Given the description of an element on the screen output the (x, y) to click on. 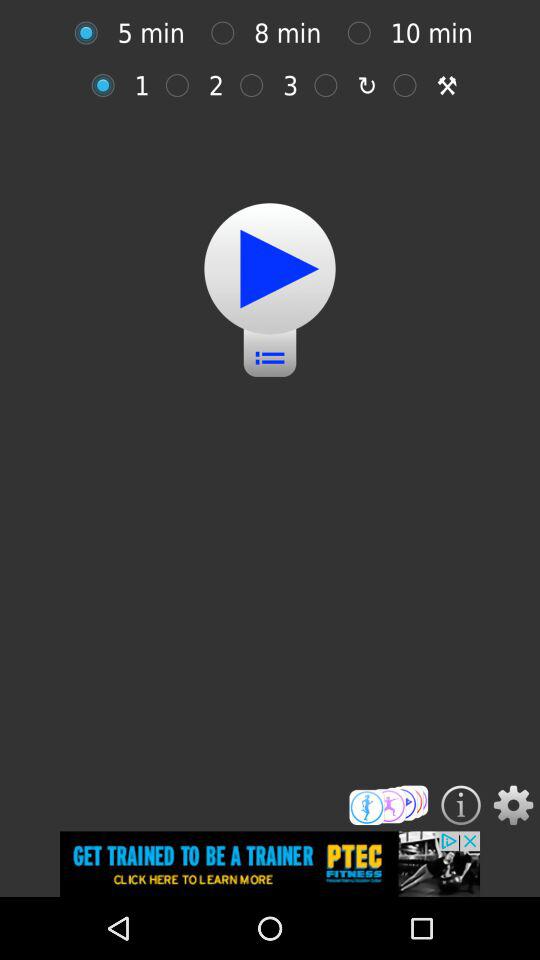
select tools (410, 85)
